Given the description of an element on the screen output the (x, y) to click on. 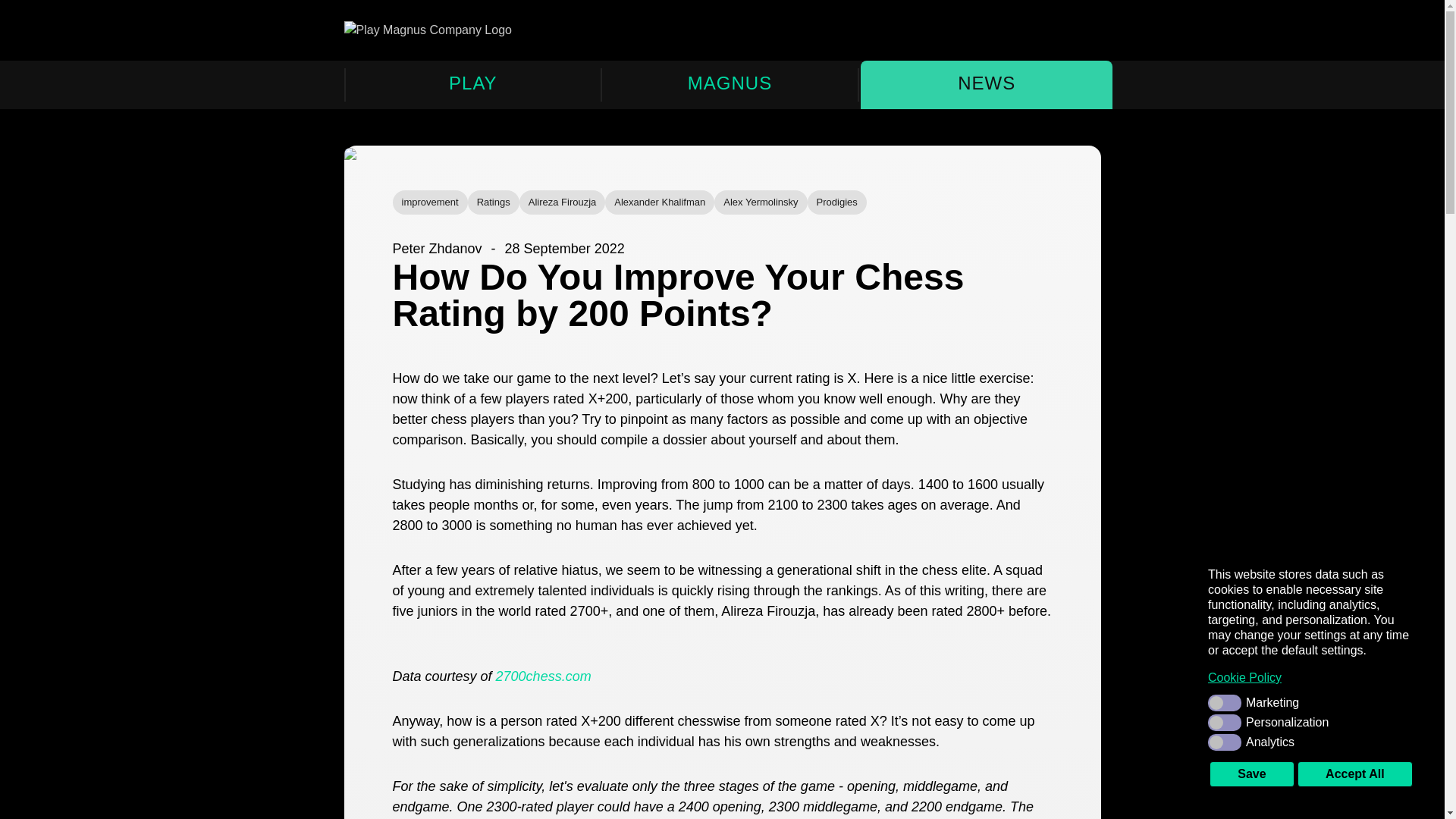
Alex Yermolinsky (760, 201)
Accept All (1354, 774)
Analytics (1310, 742)
Alireza Firouzja (562, 201)
Ratings (493, 201)
Marketing (1310, 702)
improvement (430, 201)
2700chess.com (543, 676)
Personalization (1310, 722)
Alexander Khalifman (659, 201)
